Given the description of an element on the screen output the (x, y) to click on. 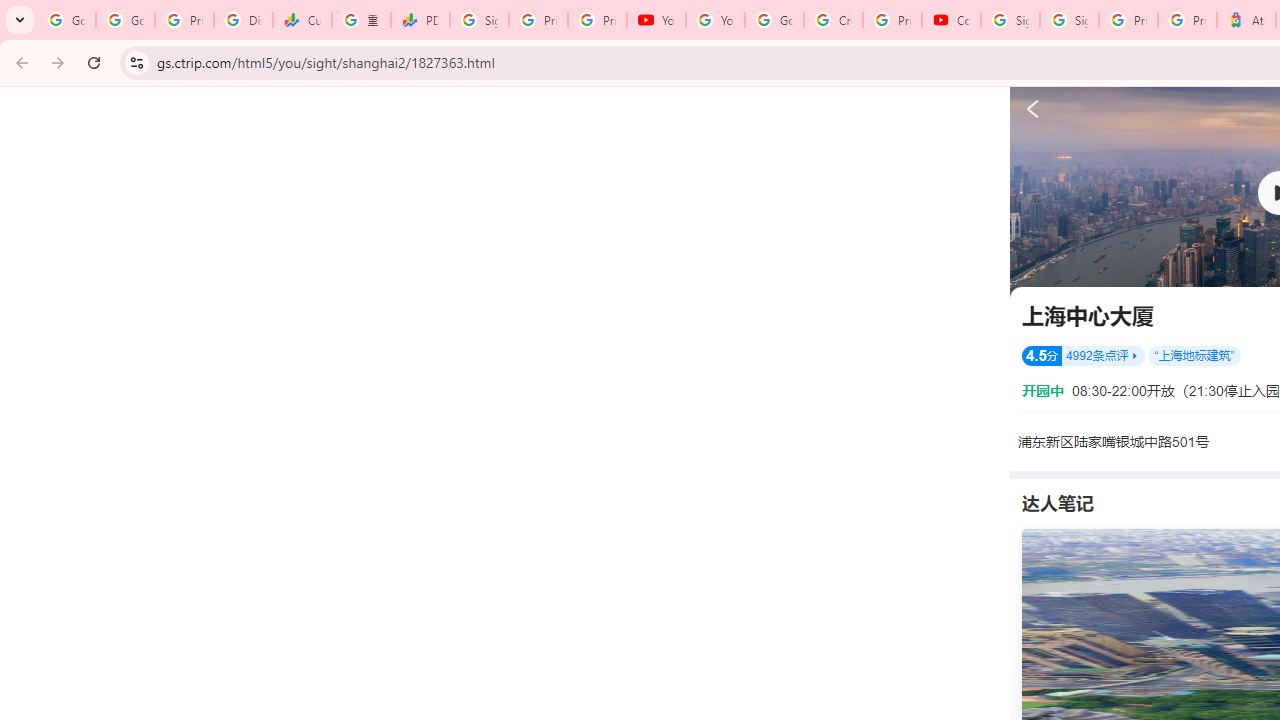
Sign in - Google Accounts (479, 20)
Sign in - Google Accounts (1010, 20)
Google Account Help (774, 20)
Privacy Checkup (597, 20)
Google Workspace Admin Community (66, 20)
Sign in - Google Accounts (1069, 20)
Create your Google Account (832, 20)
Content Creator Programs & Opportunities - YouTube Creators (950, 20)
